Given the description of an element on the screen output the (x, y) to click on. 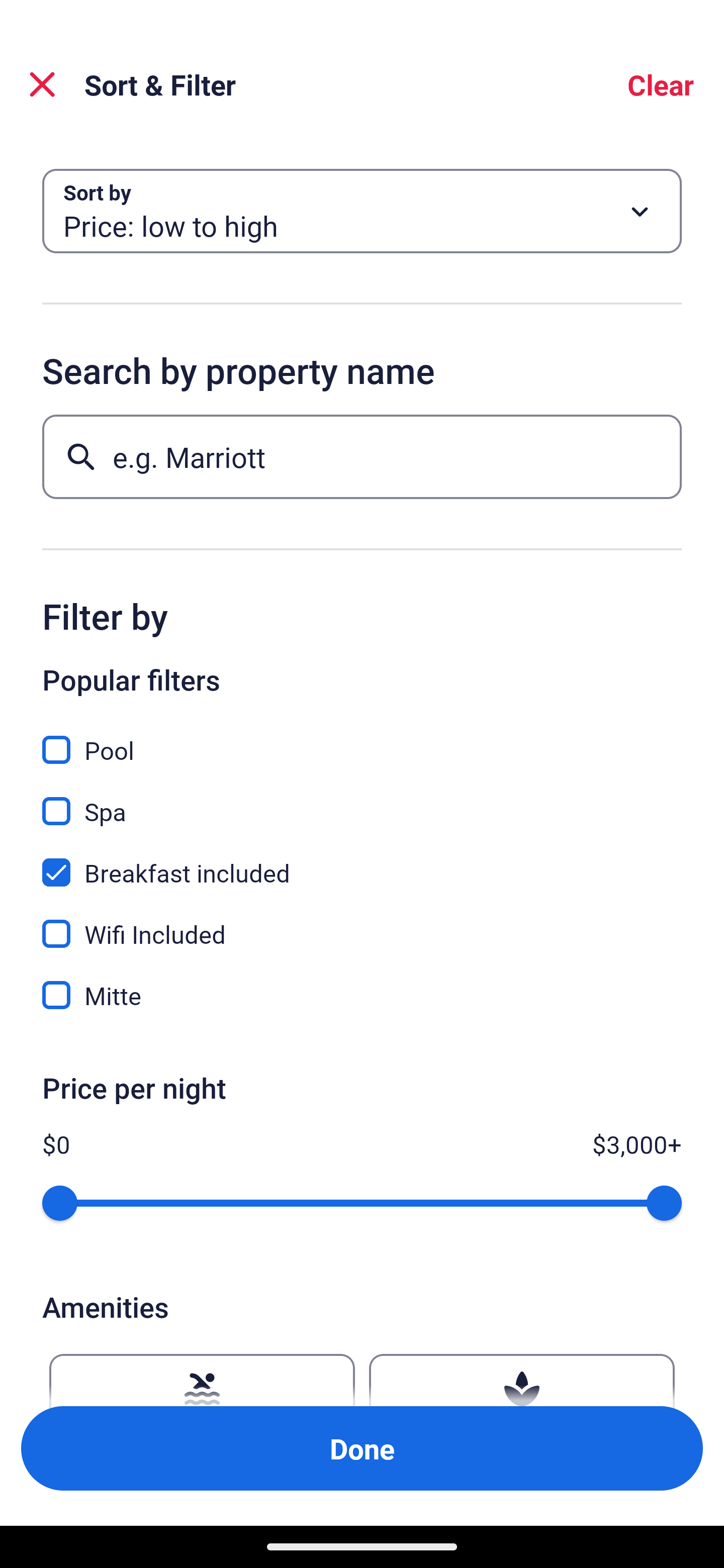
Close Sort and Filter (42, 84)
Clear (660, 84)
Sort by Button Price: low to high (361, 211)
e.g. Marriott Button (361, 455)
Pool, Pool (361, 738)
Spa, Spa (361, 800)
Breakfast included, Breakfast included (361, 861)
Wifi Included, Wifi Included (361, 922)
Mitte, Mitte (361, 995)
Apply and close Sort and Filter Done (361, 1448)
